Given the description of an element on the screen output the (x, y) to click on. 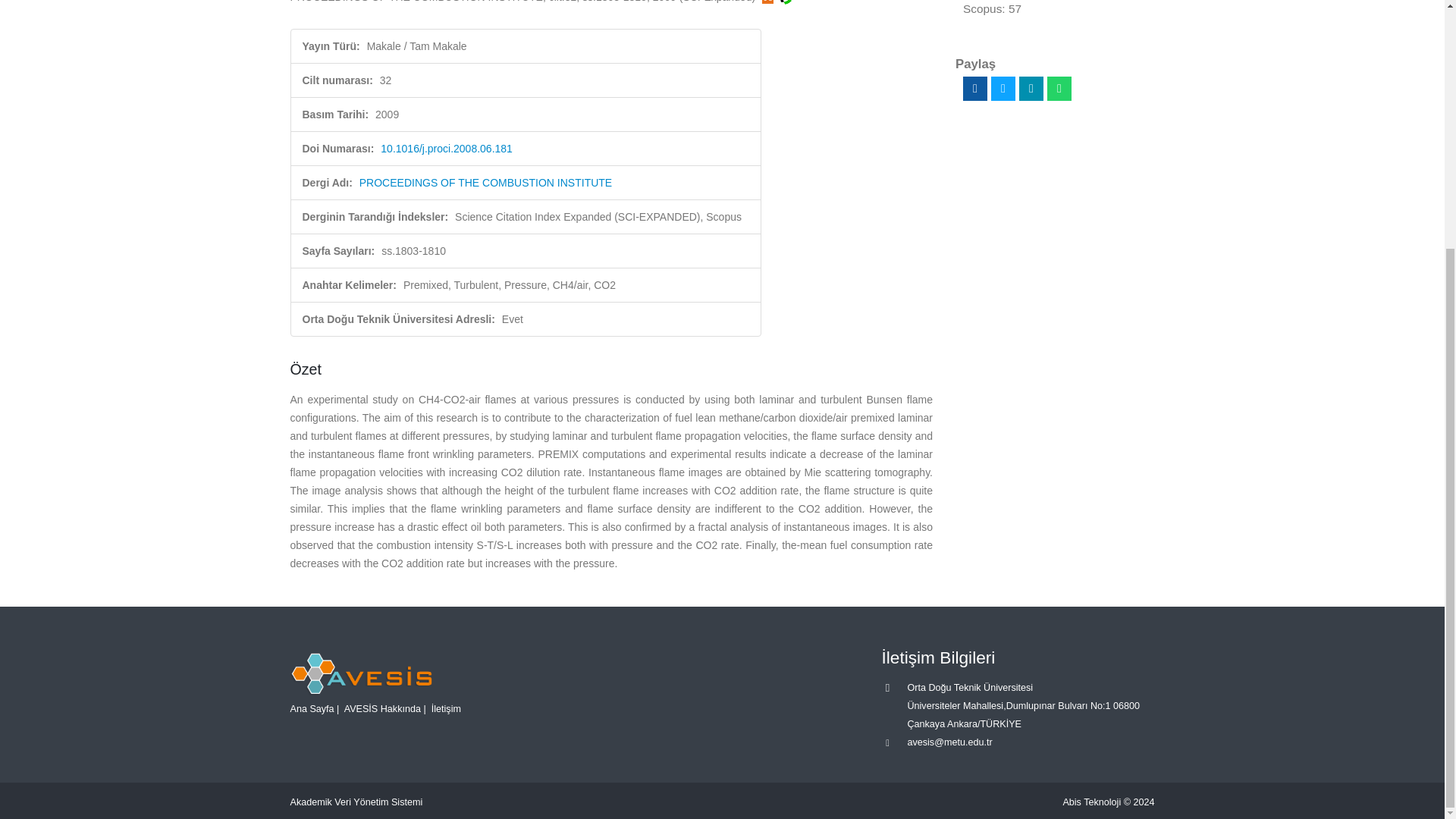
Ana Sayfa (311, 708)
Abis Teknoloji (1091, 801)
PROCEEDINGS OF THE COMBUSTION INSTITUTE (485, 182)
